Given the description of an element on the screen output the (x, y) to click on. 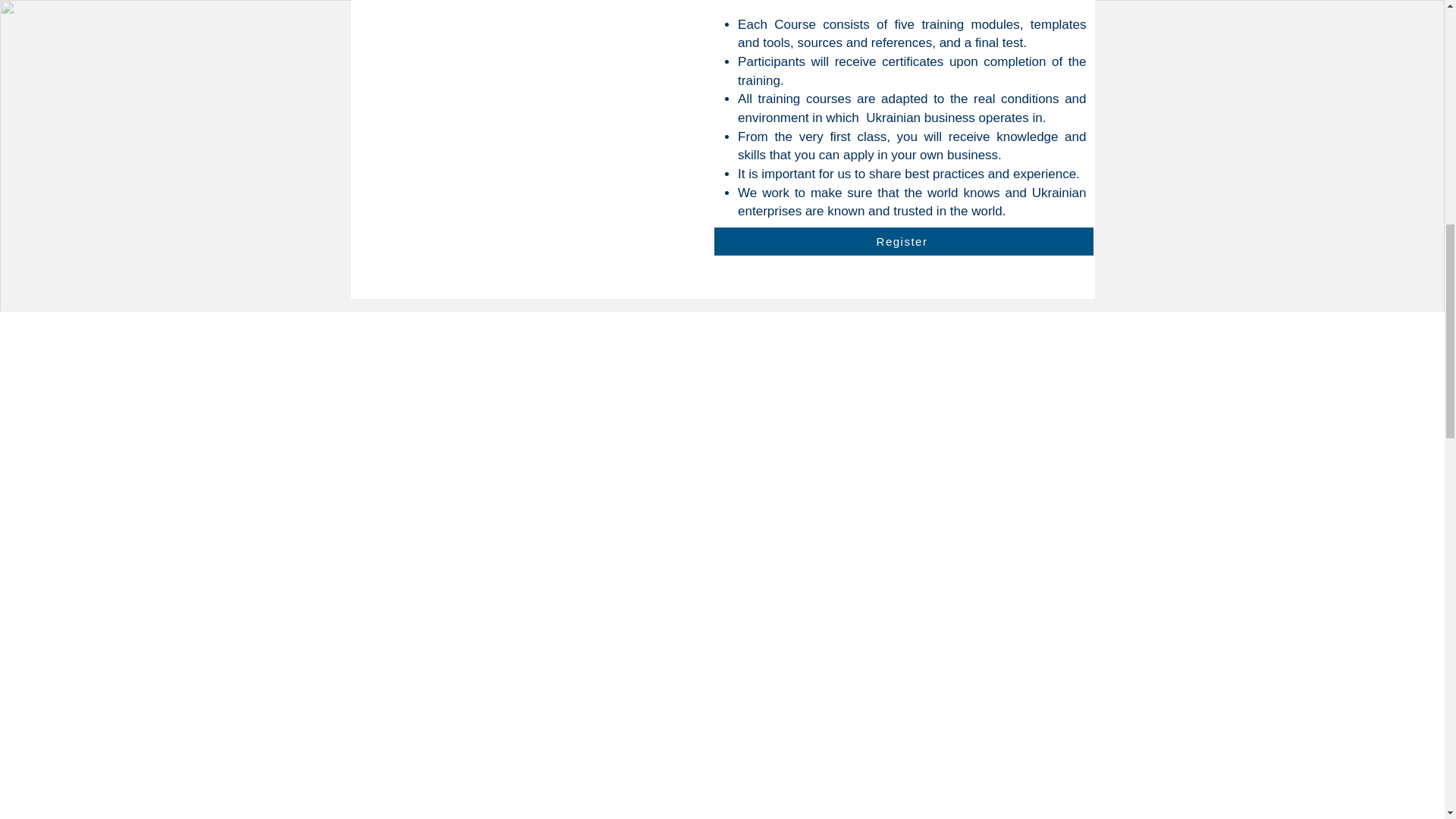
Register (903, 241)
